Given the description of an element on the screen output the (x, y) to click on. 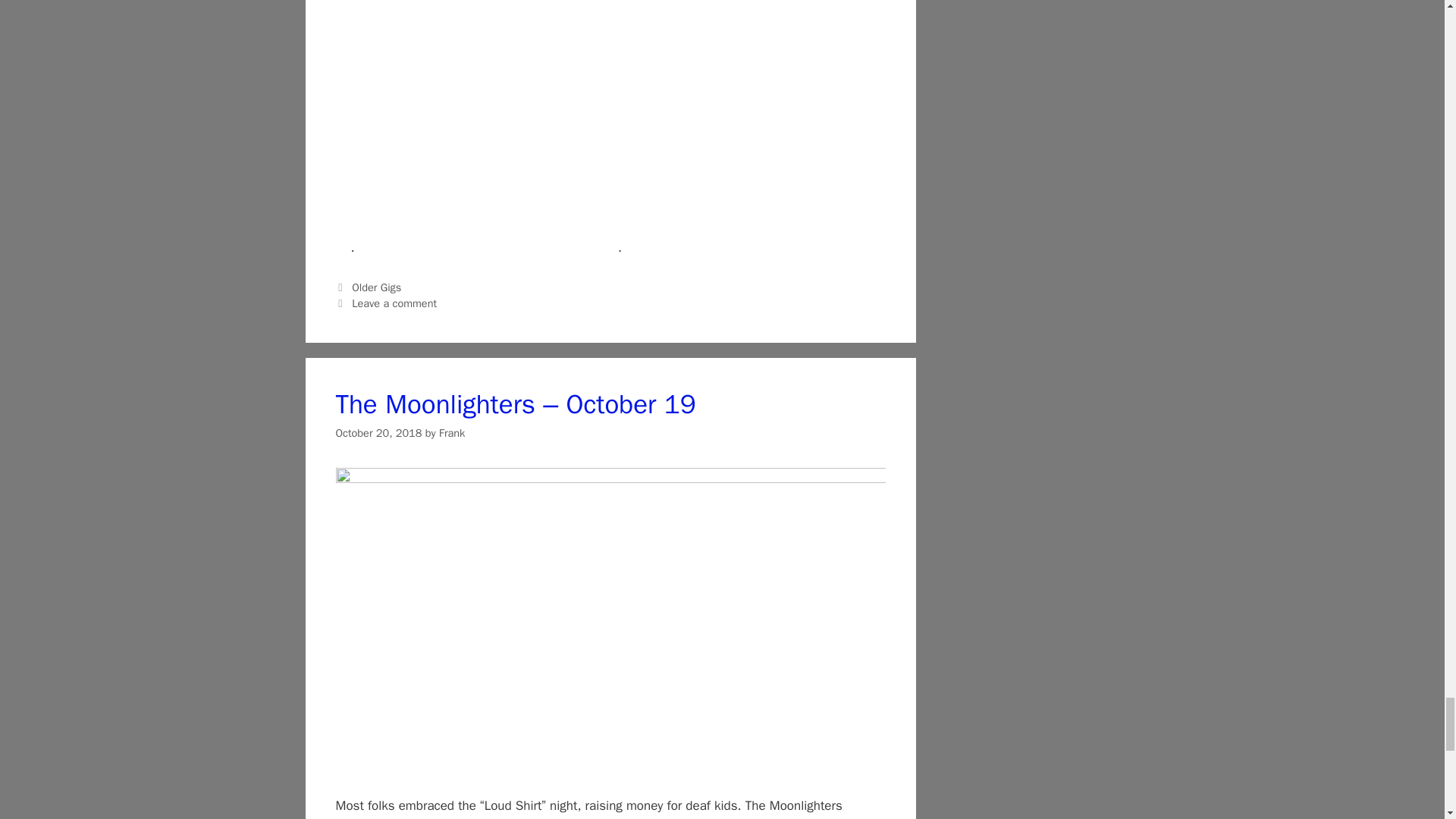
View all posts by Frank (451, 432)
